Given the description of an element on the screen output the (x, y) to click on. 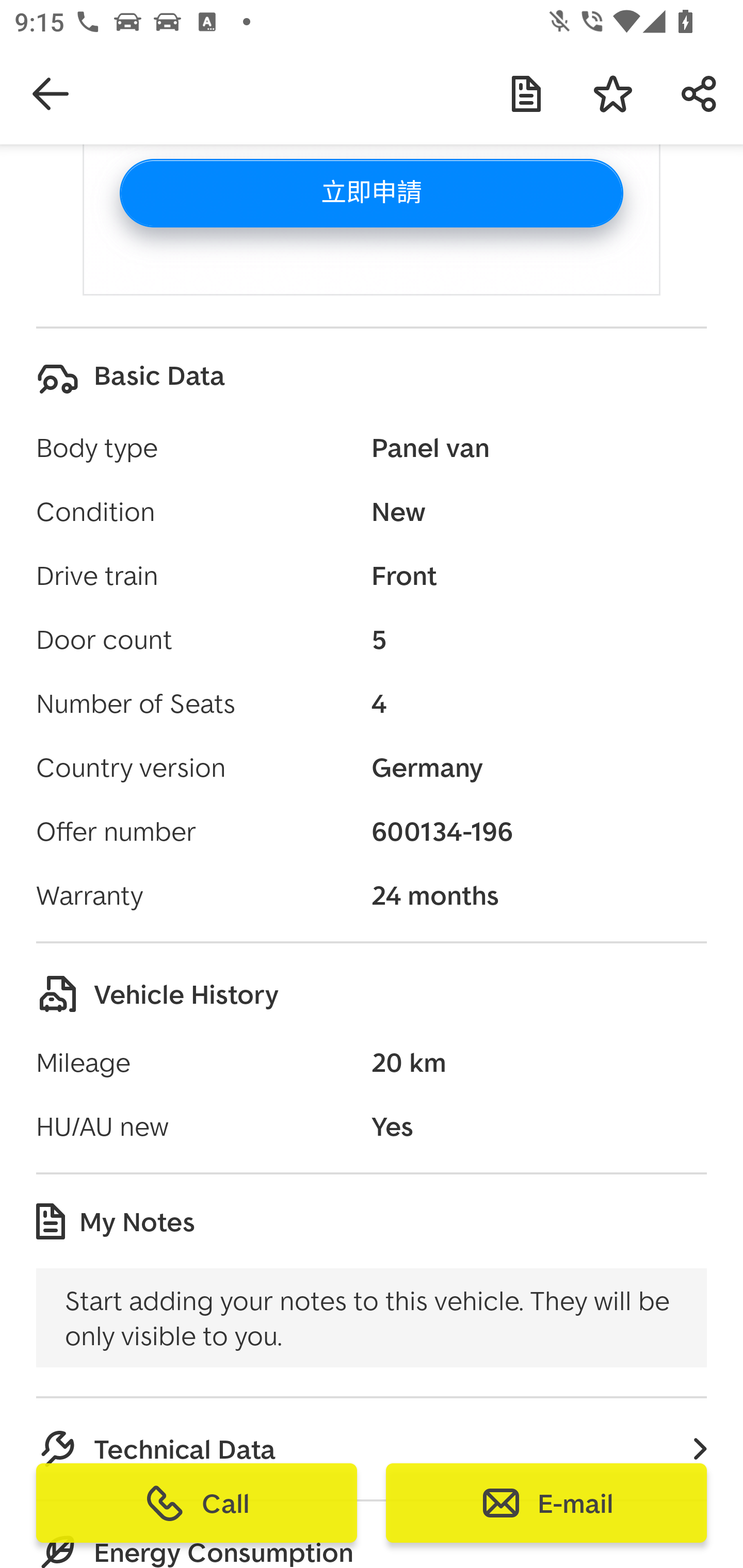
Navigate up (50, 93)
My Notes (525, 93)
Save (612, 93)
Forward (699, 93)
立即申請 (371, 193)
Call (196, 1502)
E-mail (545, 1502)
